Given the description of an element on the screen output the (x, y) to click on. 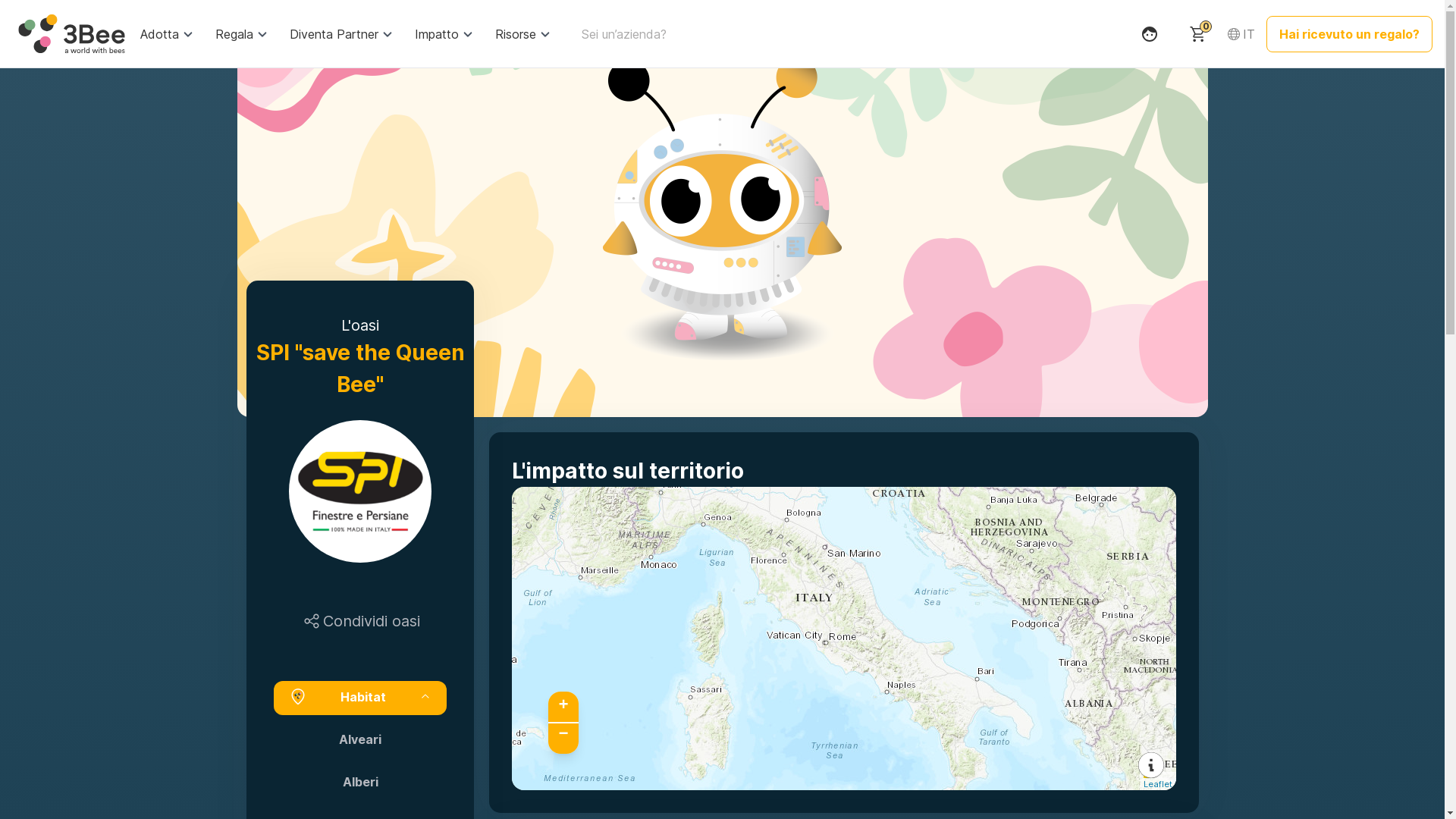
Leaflet Element type: text (1157, 780)
Risorse Element type: text (523, 33)
Condividi oasi Element type: text (360, 620)
Impatto Element type: text (444, 33)
Regala Element type: text (241, 33)
Habitat Element type: text (359, 697)
Diventa Partner Element type: text (341, 33)
Alveari Element type: text (359, 739)
Hai ricevuto un regalo? Element type: text (1349, 33)
Adotta Element type: text (167, 33)
+ Element type: text (562, 706)
Alberi Element type: text (359, 781)
